Given the description of an element on the screen output the (x, y) to click on. 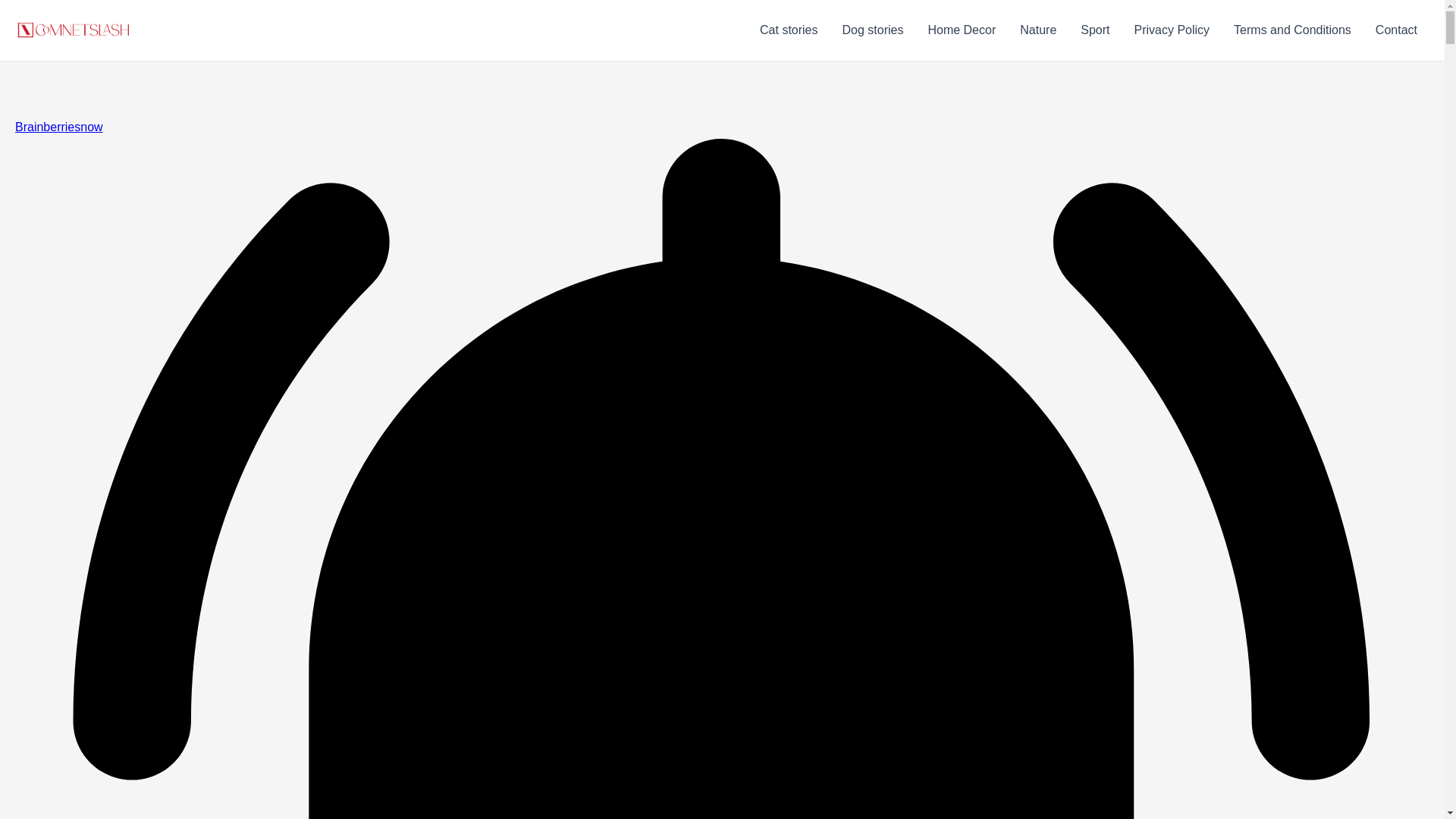
Contact (1395, 30)
Home Decor (961, 30)
Privacy Policy (1172, 30)
Sport (1094, 30)
Cat stories (788, 30)
Terms and Conditions (1291, 30)
Dog stories (872, 30)
Nature (1037, 30)
